Given the description of an element on the screen output the (x, y) to click on. 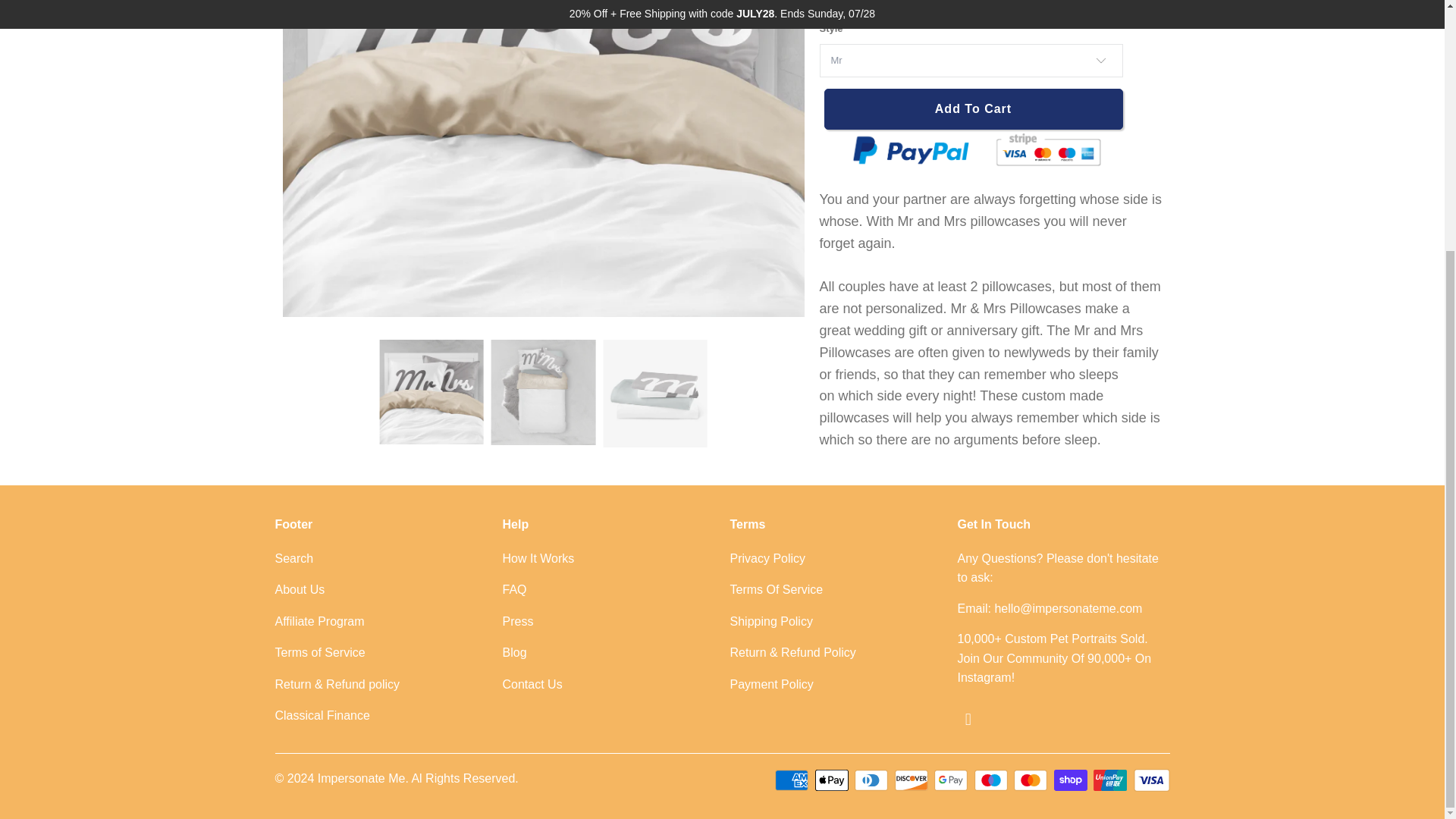
Diners Club (872, 780)
Impersonate Me on Instagram (967, 719)
Shop Pay (1072, 780)
Union Pay (1111, 780)
Visa (1150, 780)
Apple Pay (833, 780)
Google Pay (952, 780)
Discover (913, 780)
American Express (792, 780)
Maestro (992, 780)
Mastercard (1031, 780)
